Given the description of an element on the screen output the (x, y) to click on. 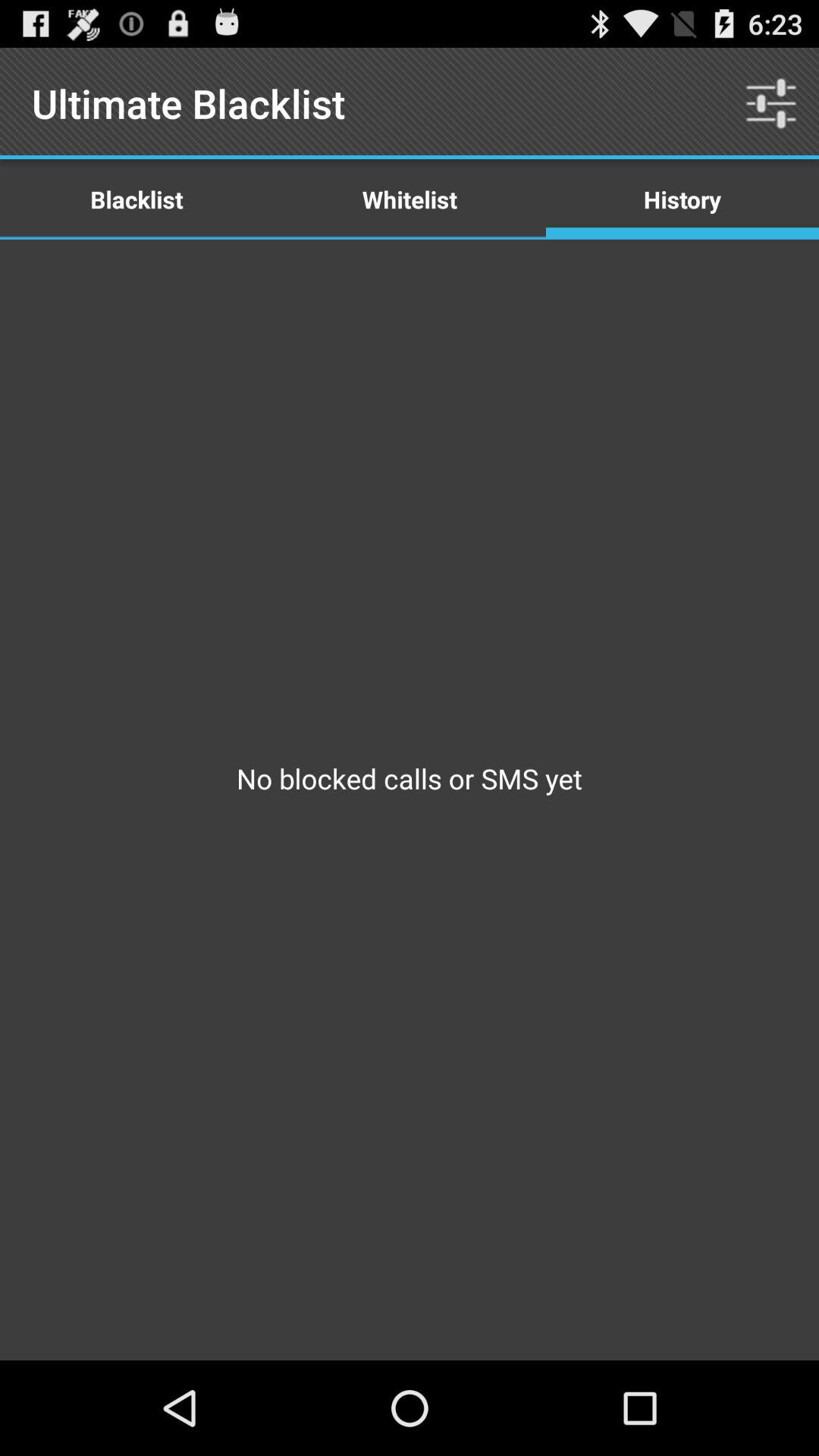
tap the item to the right of the whitelist icon (771, 103)
